Given the description of an element on the screen output the (x, y) to click on. 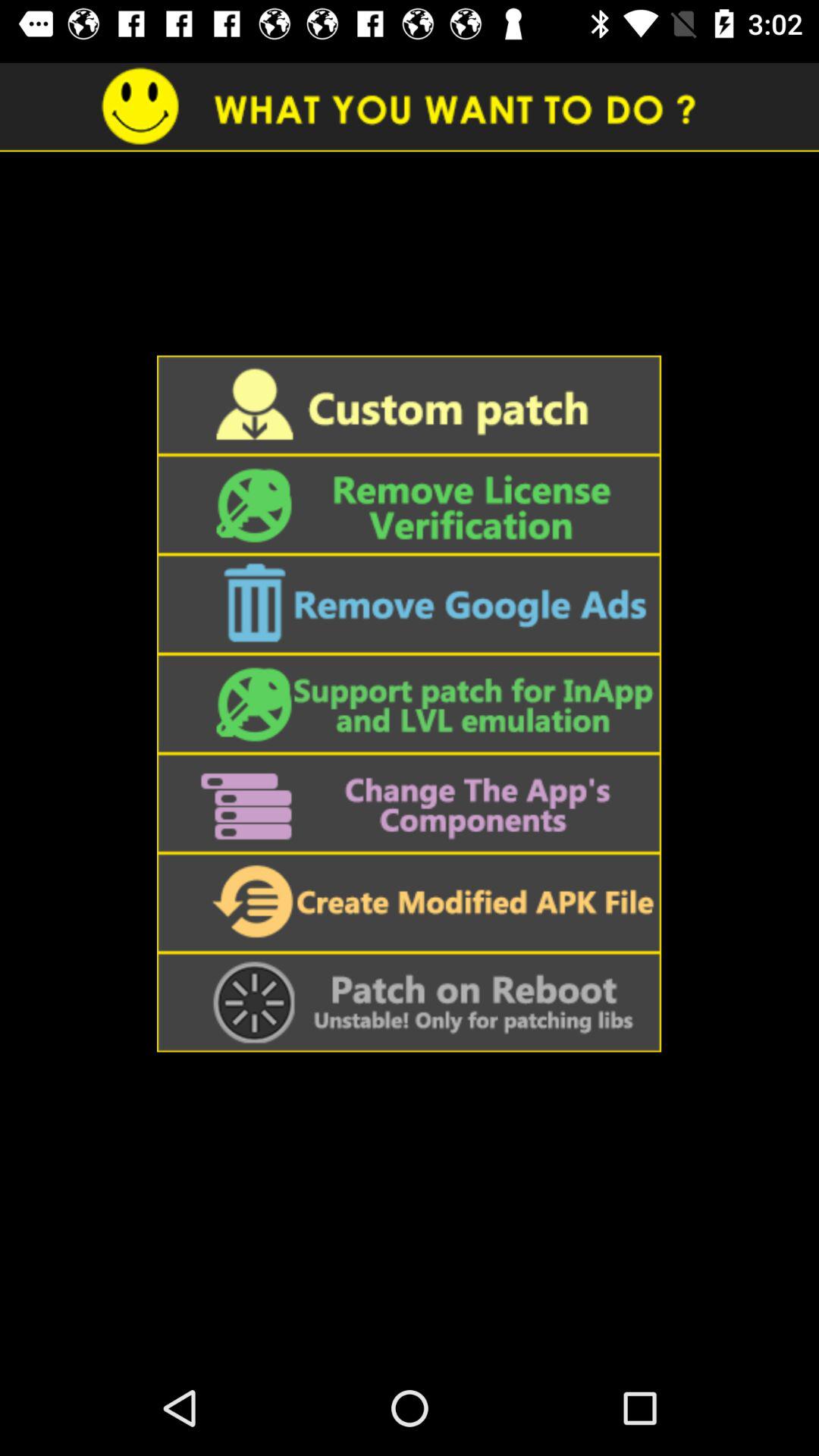
remove license verification (408, 504)
